Given the description of an element on the screen output the (x, y) to click on. 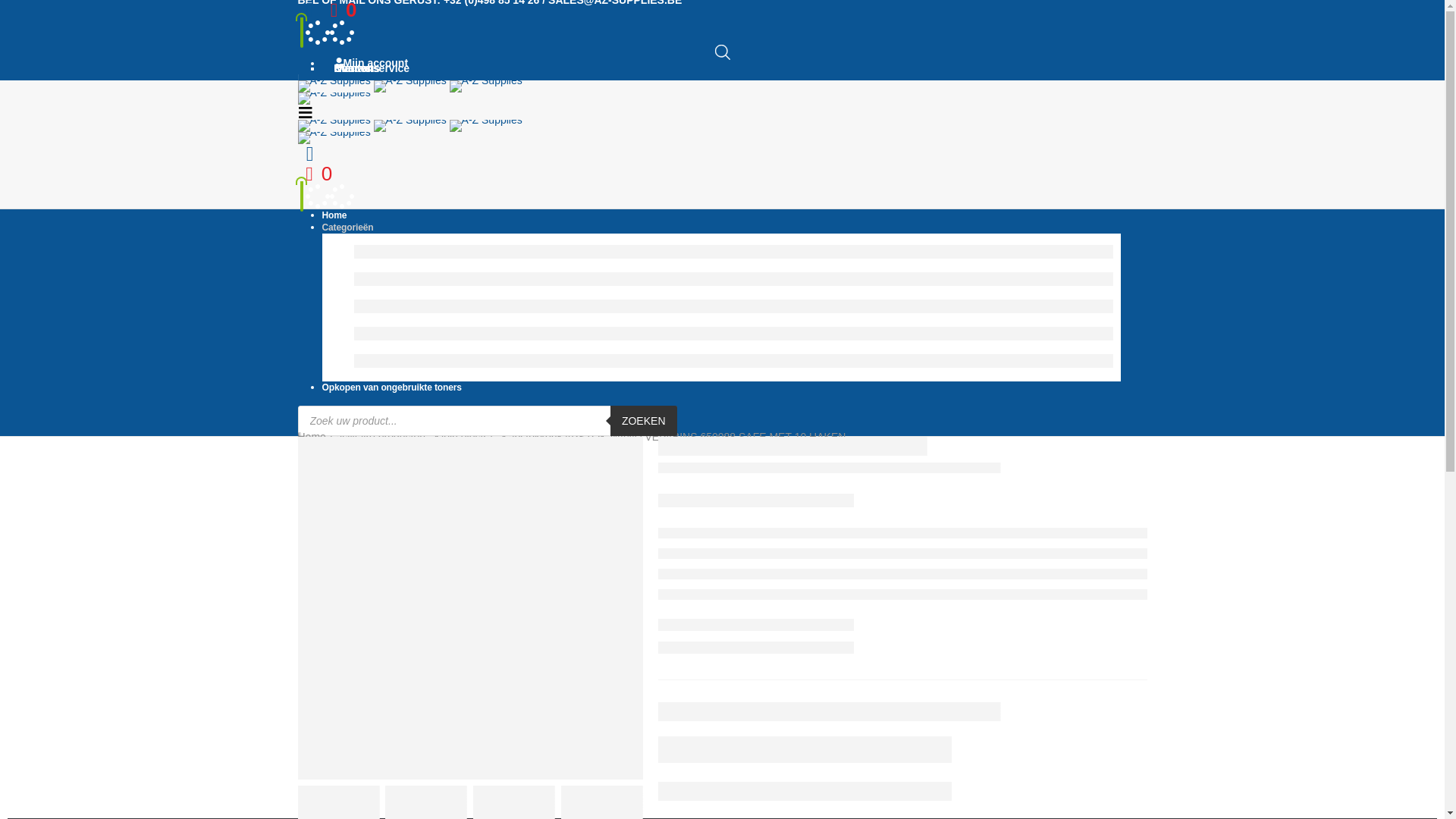
A-Z Supplies -  Element type: hover (409, 91)
ZOEKEN Element type: text (643, 420)
Facilitaire producten Element type: text (377, 436)
Mijn account Element type: text (367, 62)
A-Z Supplies -  Element type: hover (409, 131)
Kapstokken Element type: text (528, 436)
Mijn account Element type: hover (309, 154)
0 Element type: text (339, 9)
Over ons Element type: text (353, 68)
Mijn account Element type: hover (309, 10)
Klein electra Element type: text (463, 436)
Home Element type: text (333, 214)
Opkopen van ongebruikte toners Element type: text (391, 387)
Contact Element type: text (350, 68)
Home Element type: text (311, 436)
Klantenservice Element type: text (368, 68)
0 Element type: text (314, 174)
Nieuws Element type: text (348, 68)
